Given the description of an element on the screen output the (x, y) to click on. 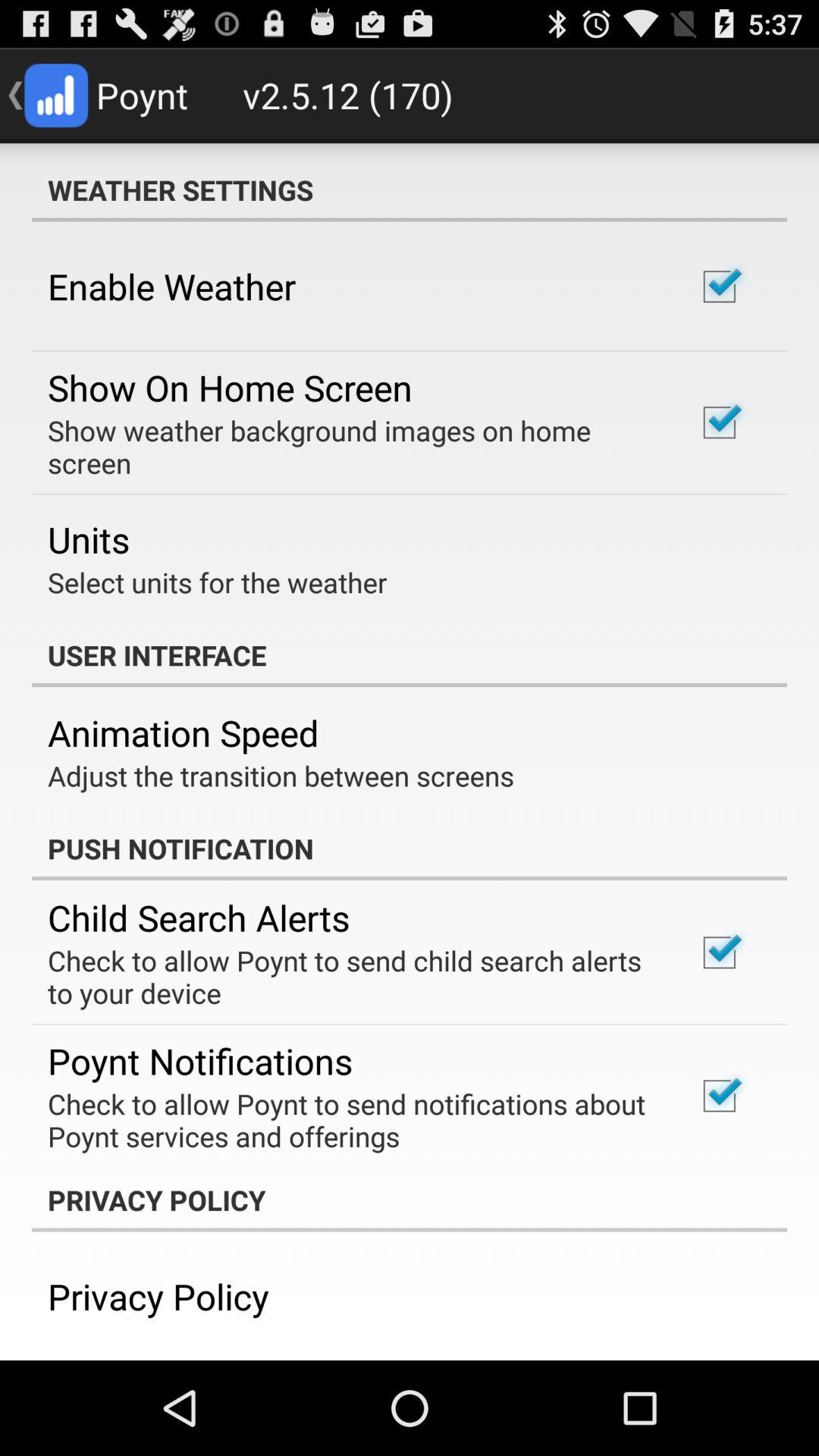
flip until the animation speed (183, 732)
